Given the description of an element on the screen output the (x, y) to click on. 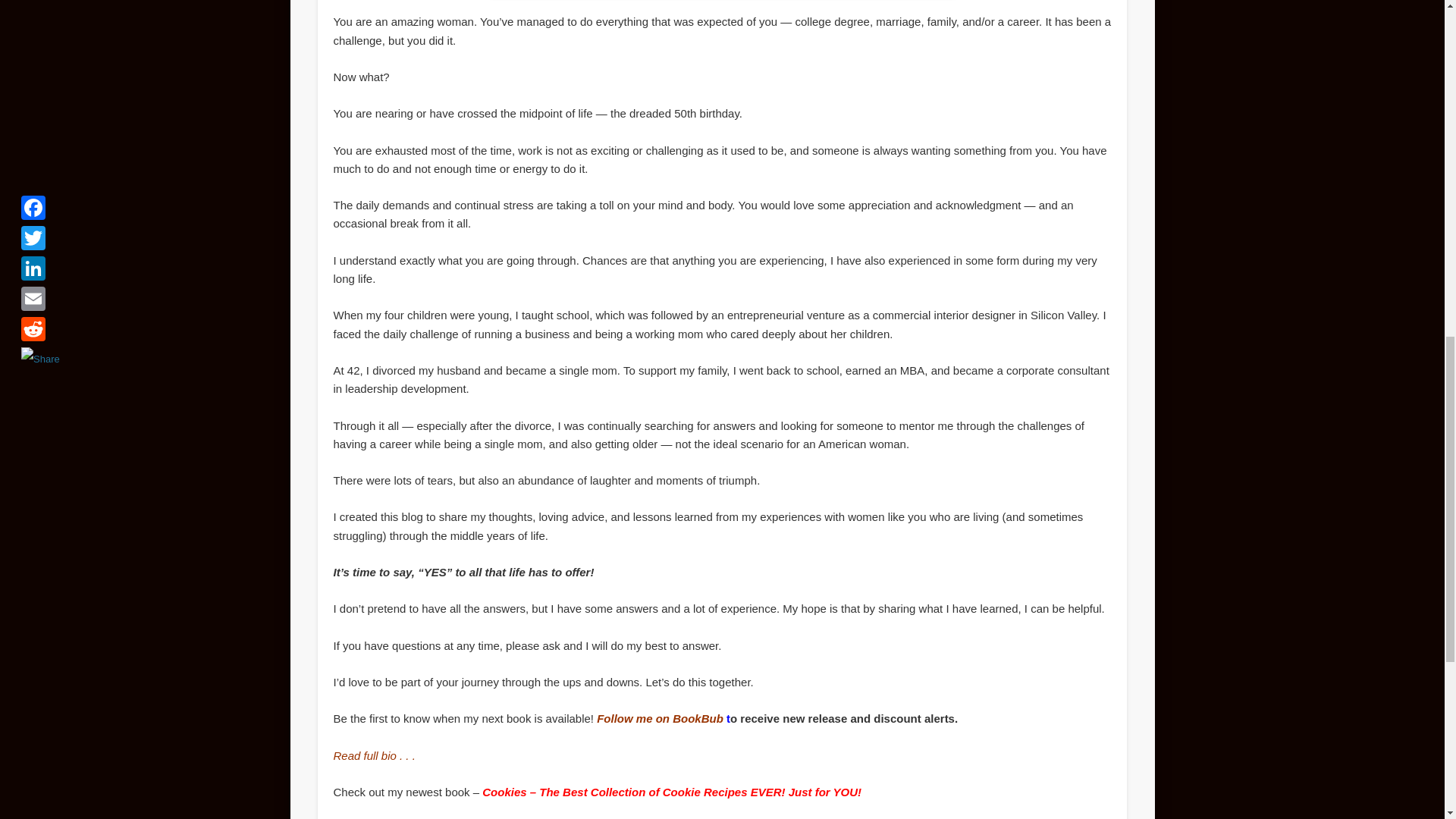
Read full bio . . . (373, 755)
Follow me on BookBub (659, 717)
